Given the description of an element on the screen output the (x, y) to click on. 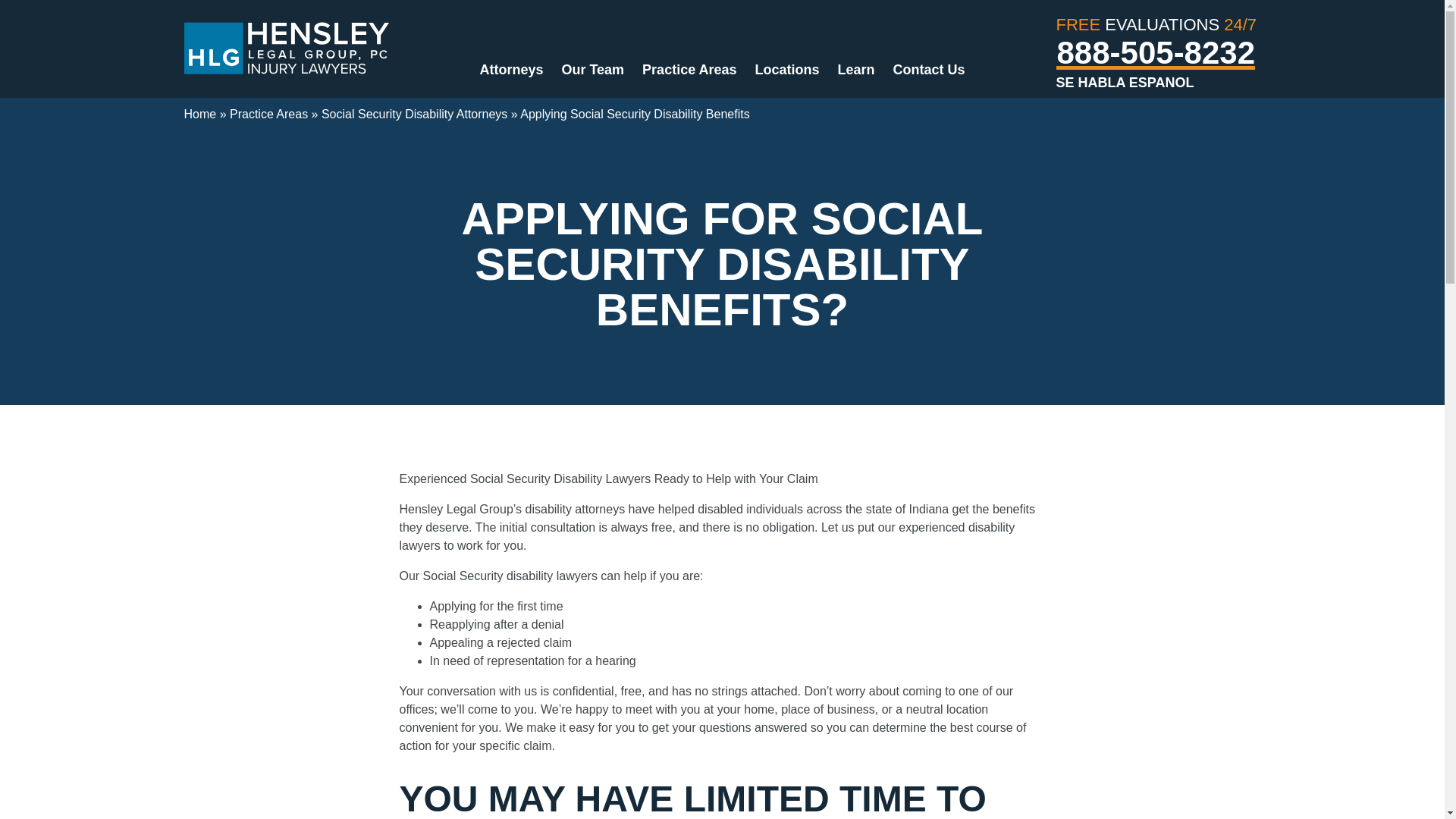
Locations (787, 69)
Our Team (592, 69)
Attorneys (511, 69)
Practice Areas (689, 69)
